Given the description of an element on the screen output the (x, y) to click on. 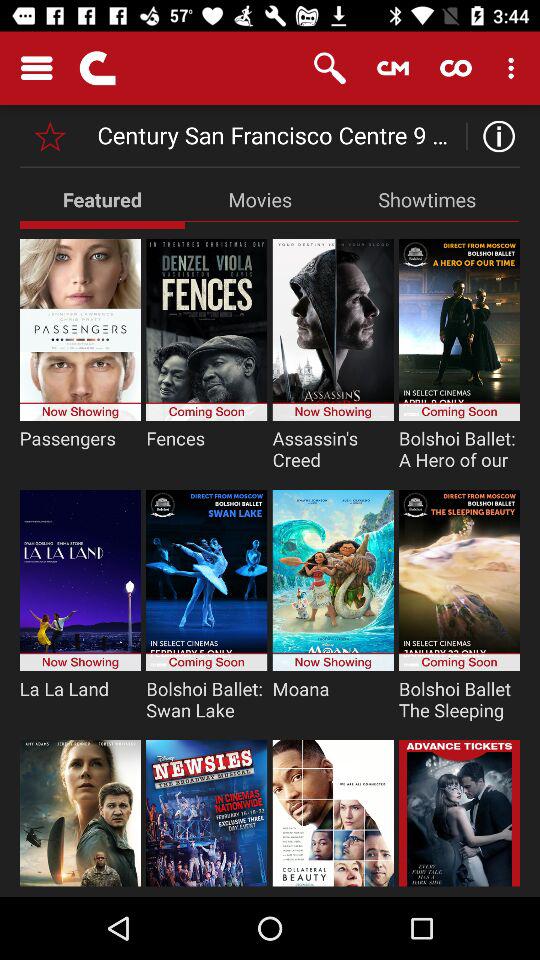
swipe until the century san francisco item (278, 136)
